Given the description of an element on the screen output the (x, y) to click on. 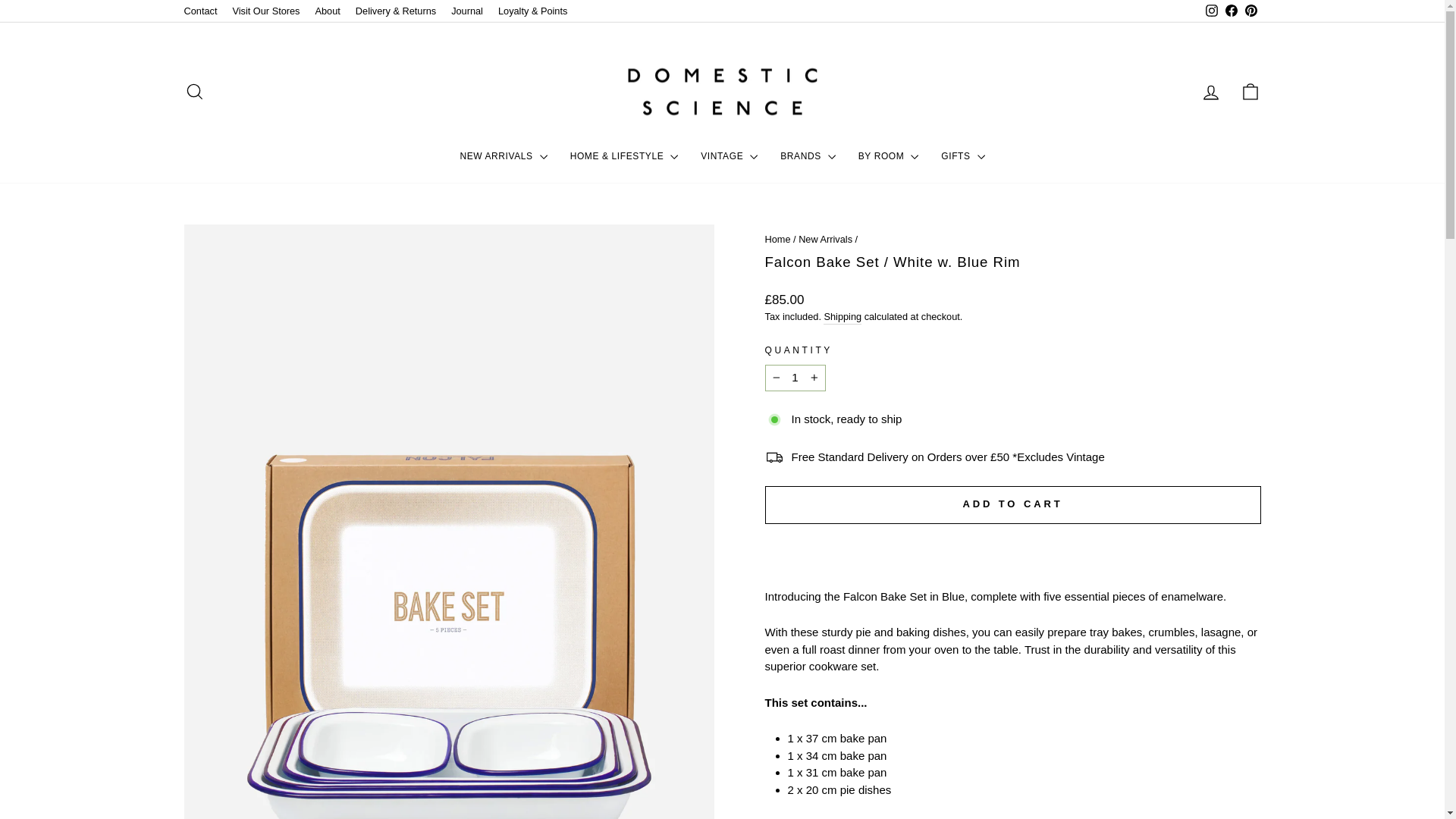
ICON-BAG-MINIMAL (1249, 91)
1 (794, 377)
ACCOUNT (1210, 92)
ICON-SEARCH (194, 91)
Back to the frontpage (777, 238)
Domestic Science Home on Facebook (1230, 11)
Domestic Science Home on Instagram (1211, 11)
Domestic Science Home on Pinterest (1250, 11)
instagram (1211, 10)
